Given the description of an element on the screen output the (x, y) to click on. 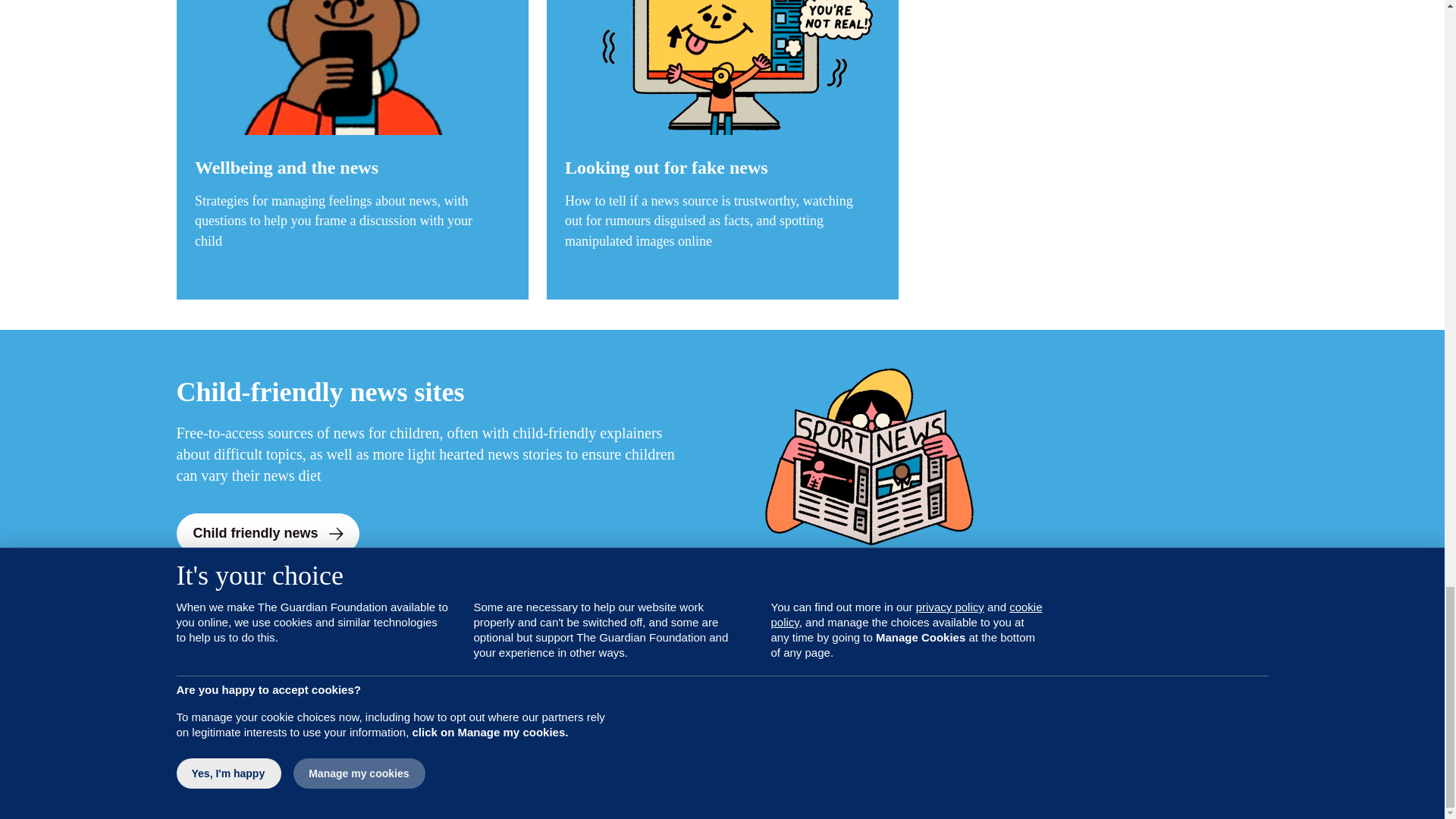
Back to NewsWise (264, 681)
Manage cookies (999, 747)
Complaints Procedure (902, 747)
Privacy and cookie policy (681, 747)
Terms and conditions (794, 747)
Child friendly news (267, 533)
